Given the description of an element on the screen output the (x, y) to click on. 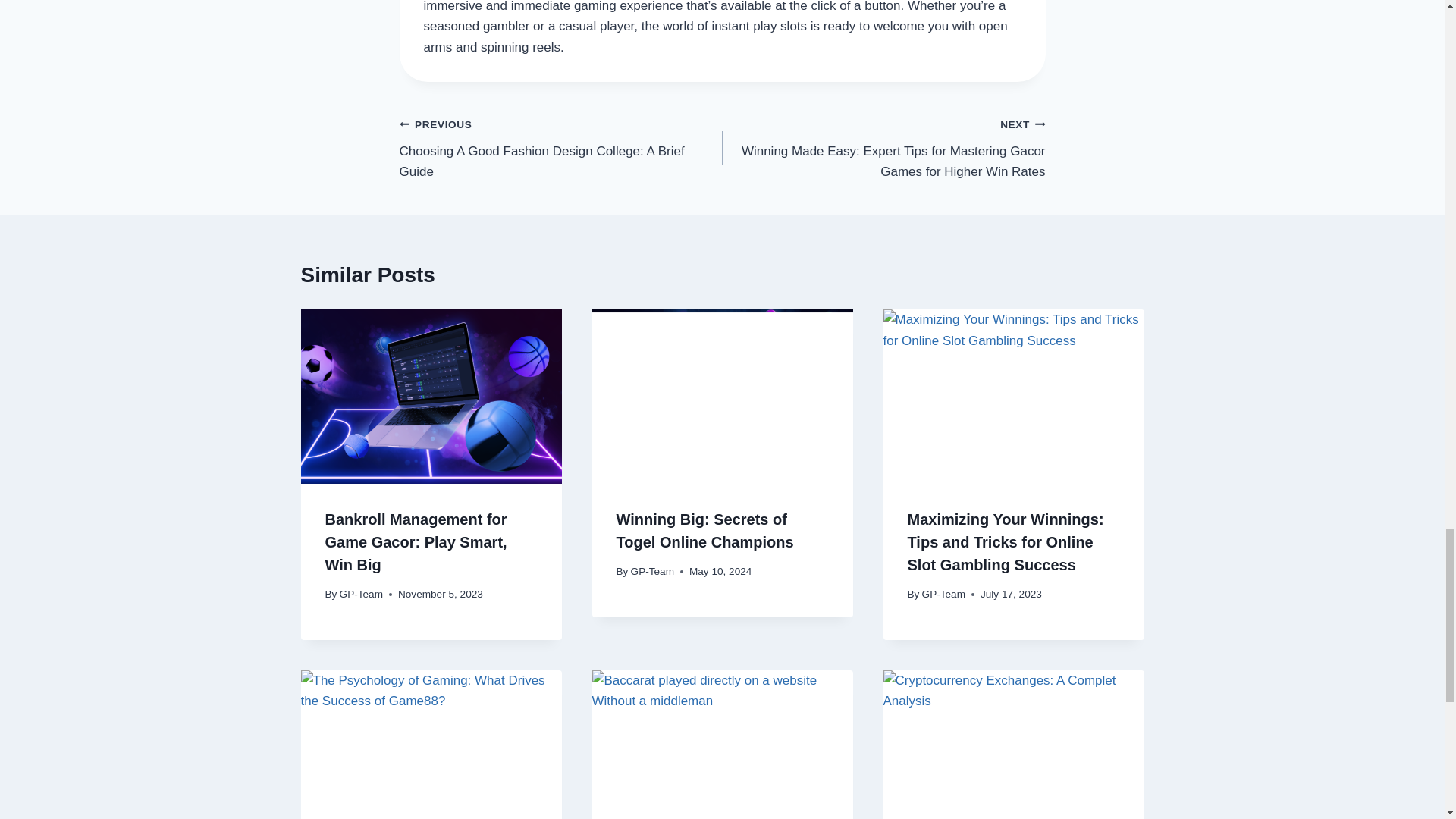
Winning Big: Secrets of Togel Online Champions (704, 530)
GP-Team (360, 593)
GP-Team (943, 593)
GP-Team (652, 571)
Bankroll Management for Game Gacor: Play Smart, Win Big (415, 542)
